Given the description of an element on the screen output the (x, y) to click on. 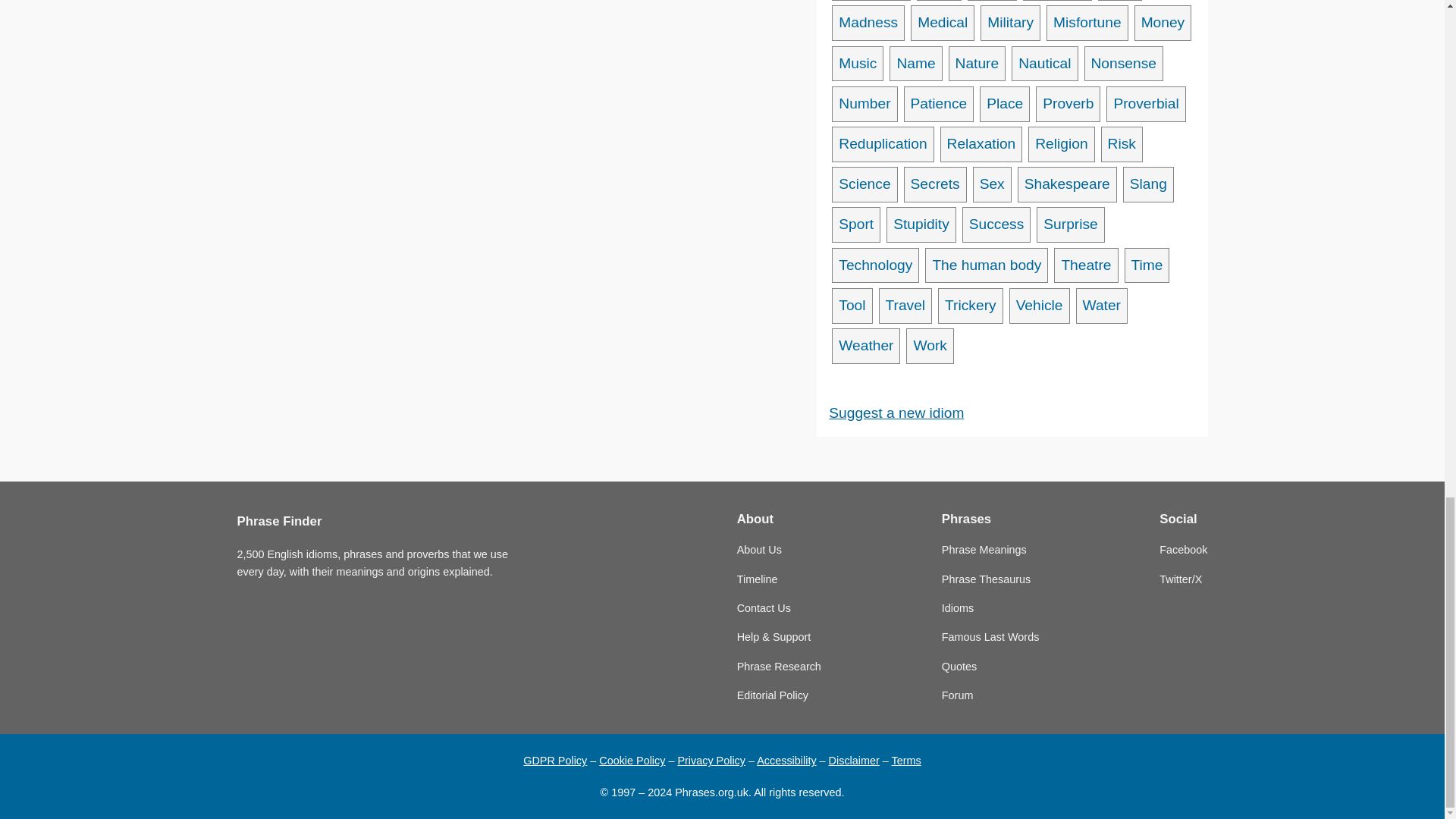
Suggest a new idiom (895, 412)
